Given the description of an element on the screen output the (x, y) to click on. 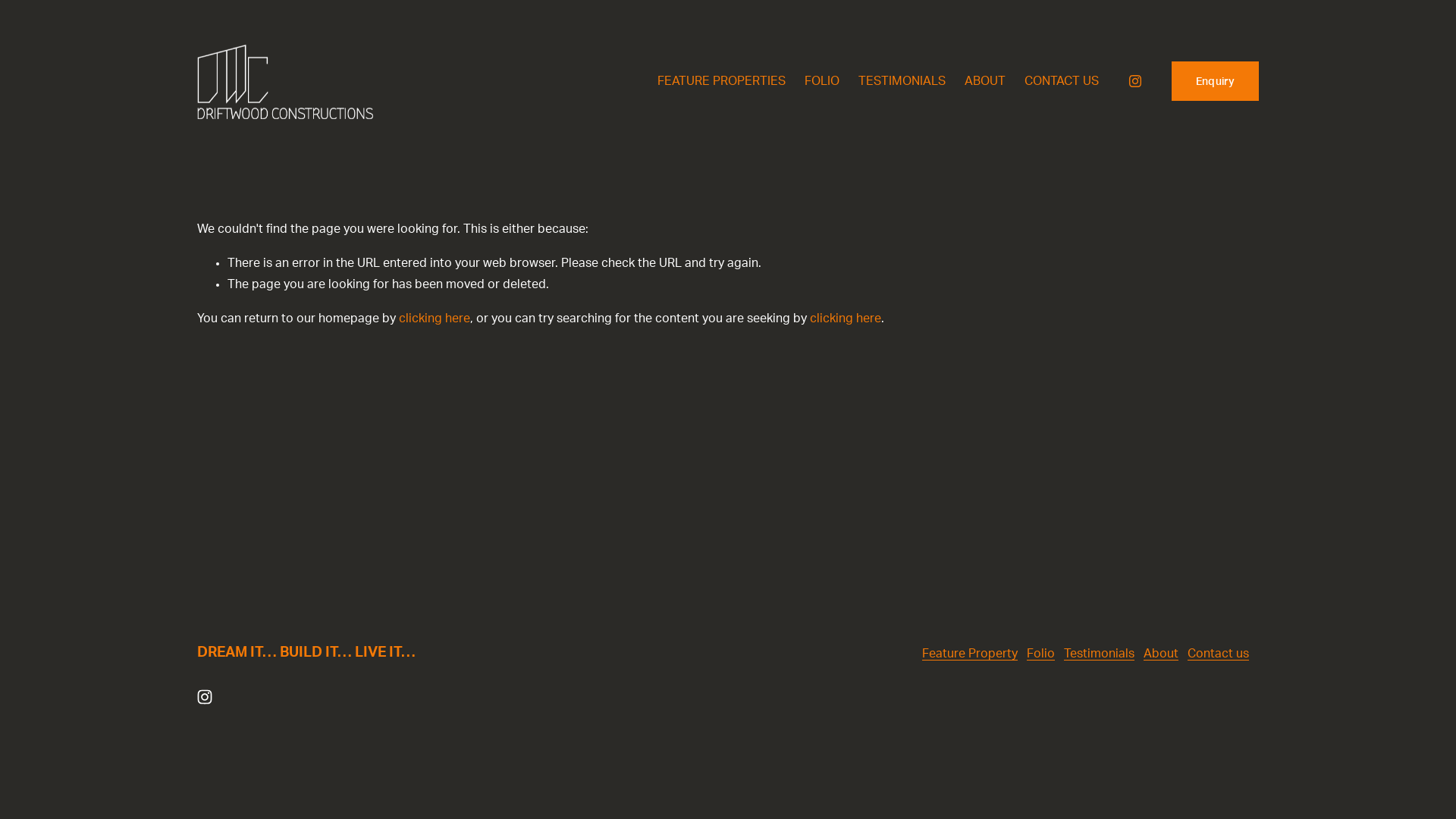
TESTIMONIALS Element type: text (901, 81)
Contact us Element type: text (1217, 654)
clicking here Element type: text (434, 318)
Feature Property Element type: text (969, 654)
Folio Element type: text (1040, 654)
clicking here Element type: text (845, 318)
About Element type: text (1160, 654)
Testimonials Element type: text (1098, 654)
Enquiry Element type: text (1214, 80)
FOLIO Element type: text (821, 81)
FEATURE PROPERTIES Element type: text (721, 81)
ABOUT Element type: text (984, 81)
CONTACT US Element type: text (1061, 81)
